Given the description of an element on the screen output the (x, y) to click on. 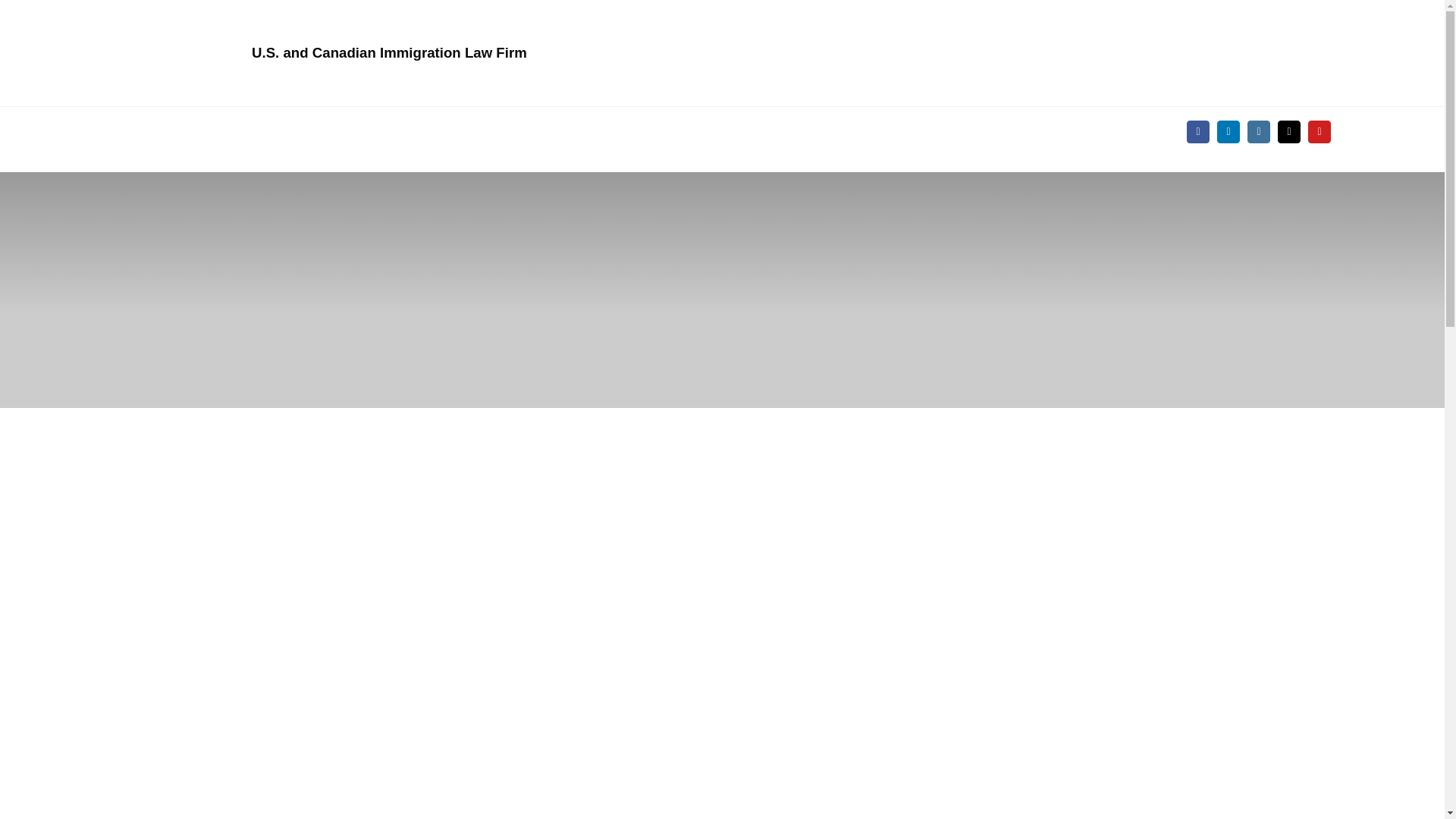
Facebook (1197, 131)
Instagram (1258, 131)
X (1289, 131)
YouTube (1318, 131)
LinkedIn (1228, 131)
